Given the description of an element on the screen output the (x, y) to click on. 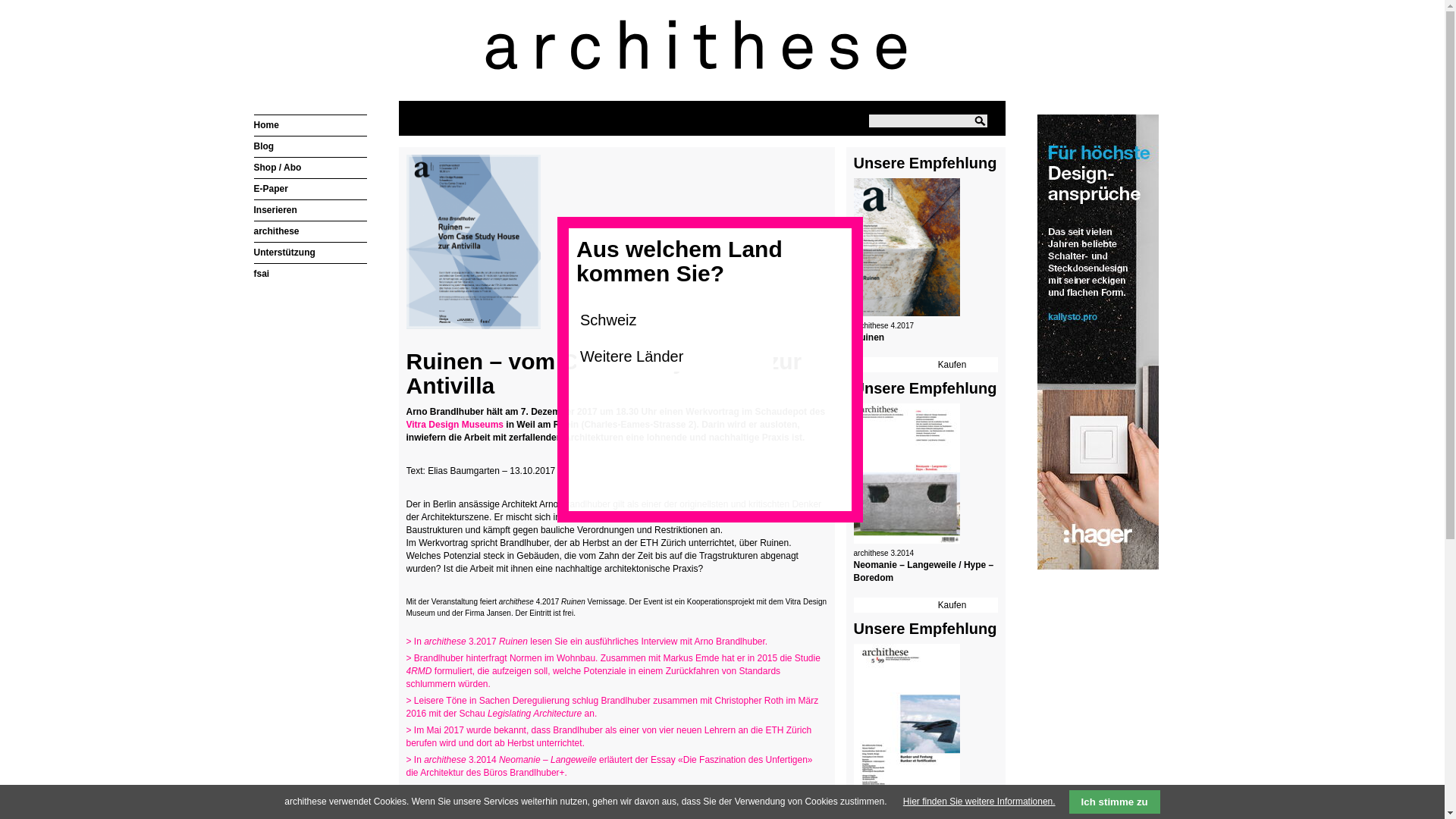
Blog Element type: text (263, 146)
Hier finden Sie weitere Informationen. Element type: text (979, 801)
archithese Element type: text (275, 230)
Per E-Mail weiterleiten Element type: hover (459, 801)
Kaufen Element type: text (952, 604)
Ich stimme zu Element type: text (1114, 801)
Home Element type: text (265, 124)
fsai Element type: text (261, 273)
Vitra Design Museums Element type: text (454, 424)
Shop / Abo Element type: text (277, 167)
Submit Element type: hover (979, 120)
Ruinen Element type: text (868, 337)
banner_bmid67 Element type: hover (1114, 343)
E-Paper Element type: text (270, 188)
Inserieren Element type: text (274, 209)
Kaufen Element type: text (952, 364)
